Given the description of an element on the screen output the (x, y) to click on. 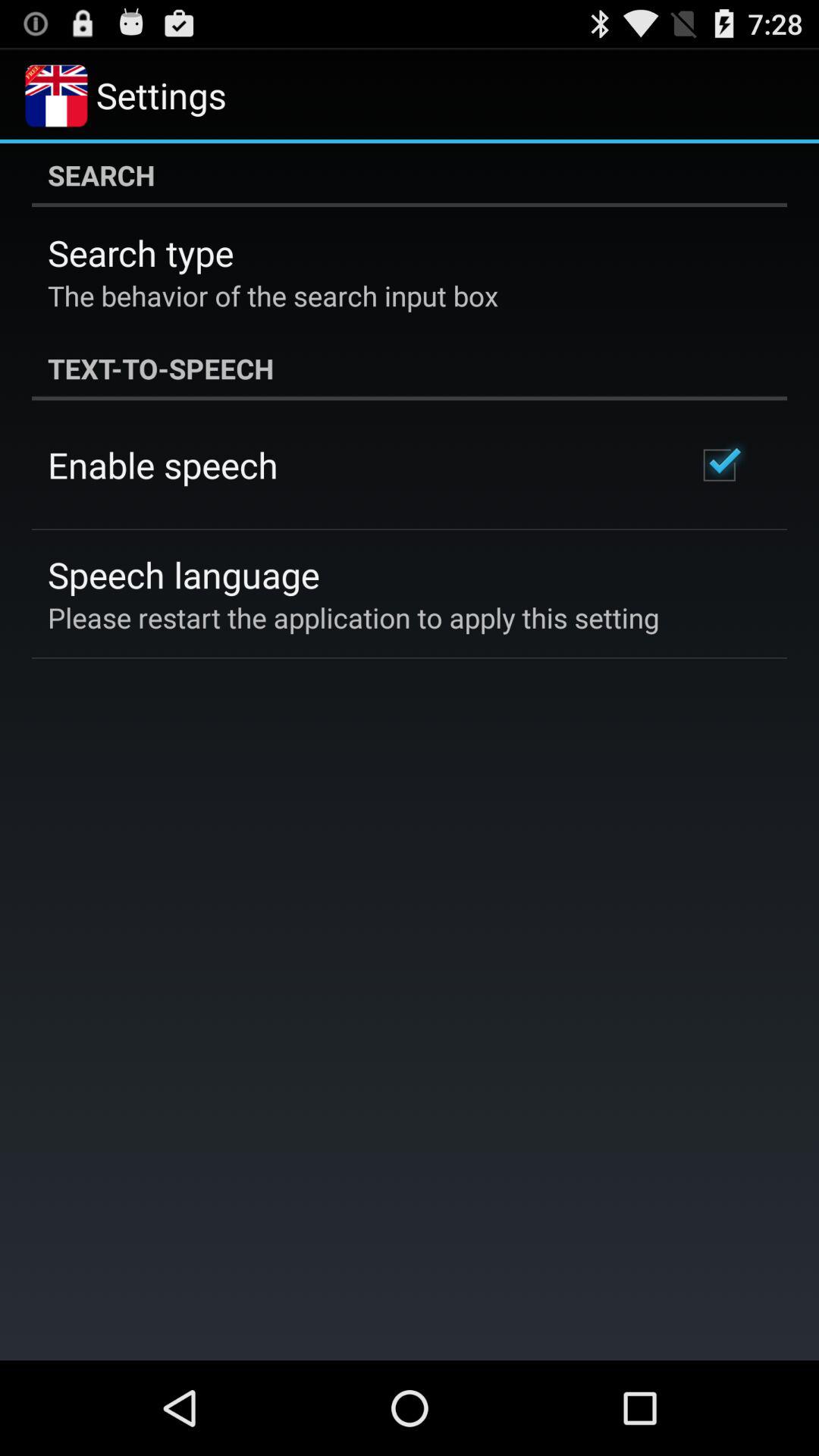
open the the behavior of icon (272, 295)
